Given the description of an element on the screen output the (x, y) to click on. 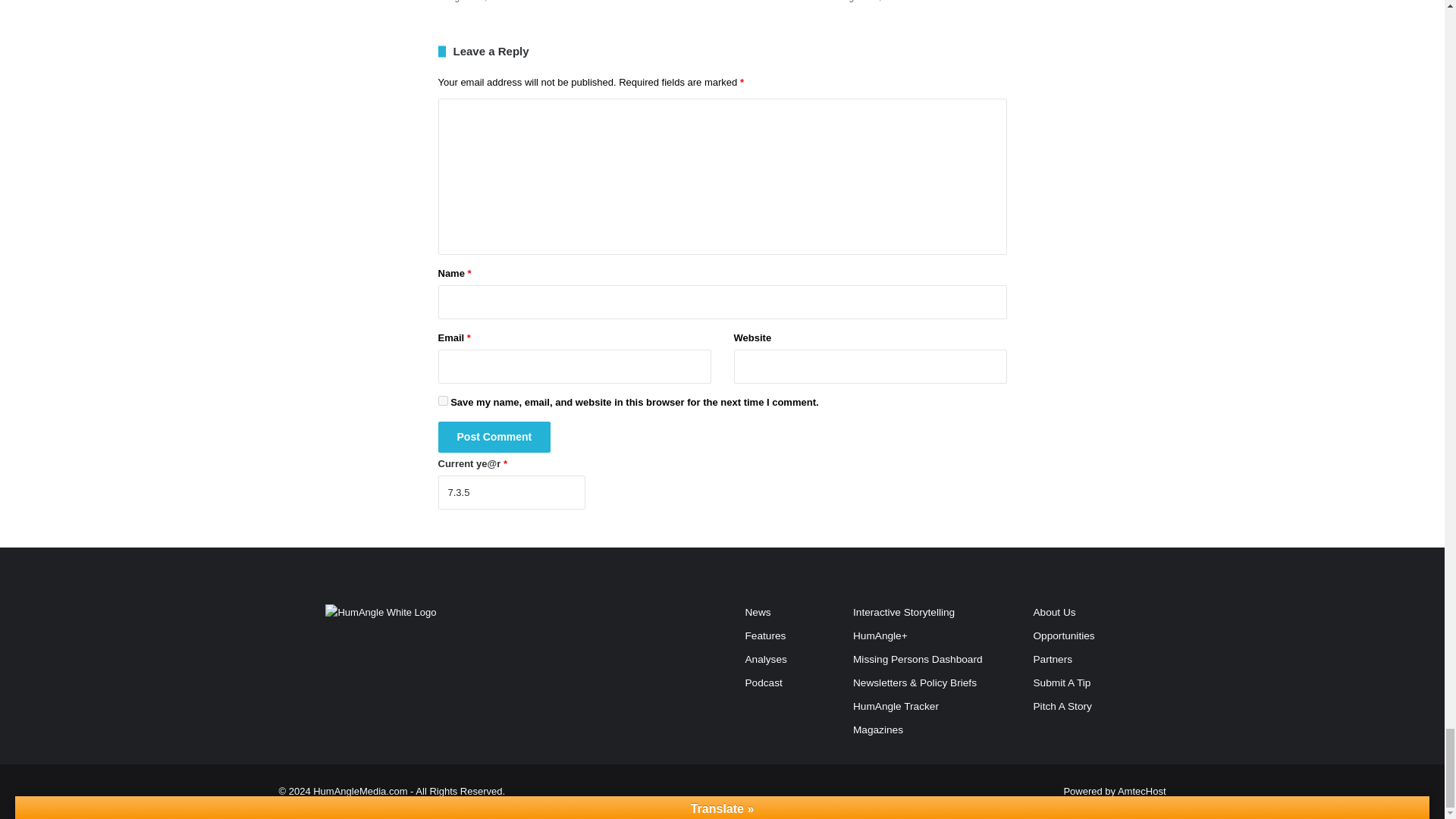
7.3.5 (511, 492)
yes (443, 400)
Post Comment (494, 436)
